Given the description of an element on the screen output the (x, y) to click on. 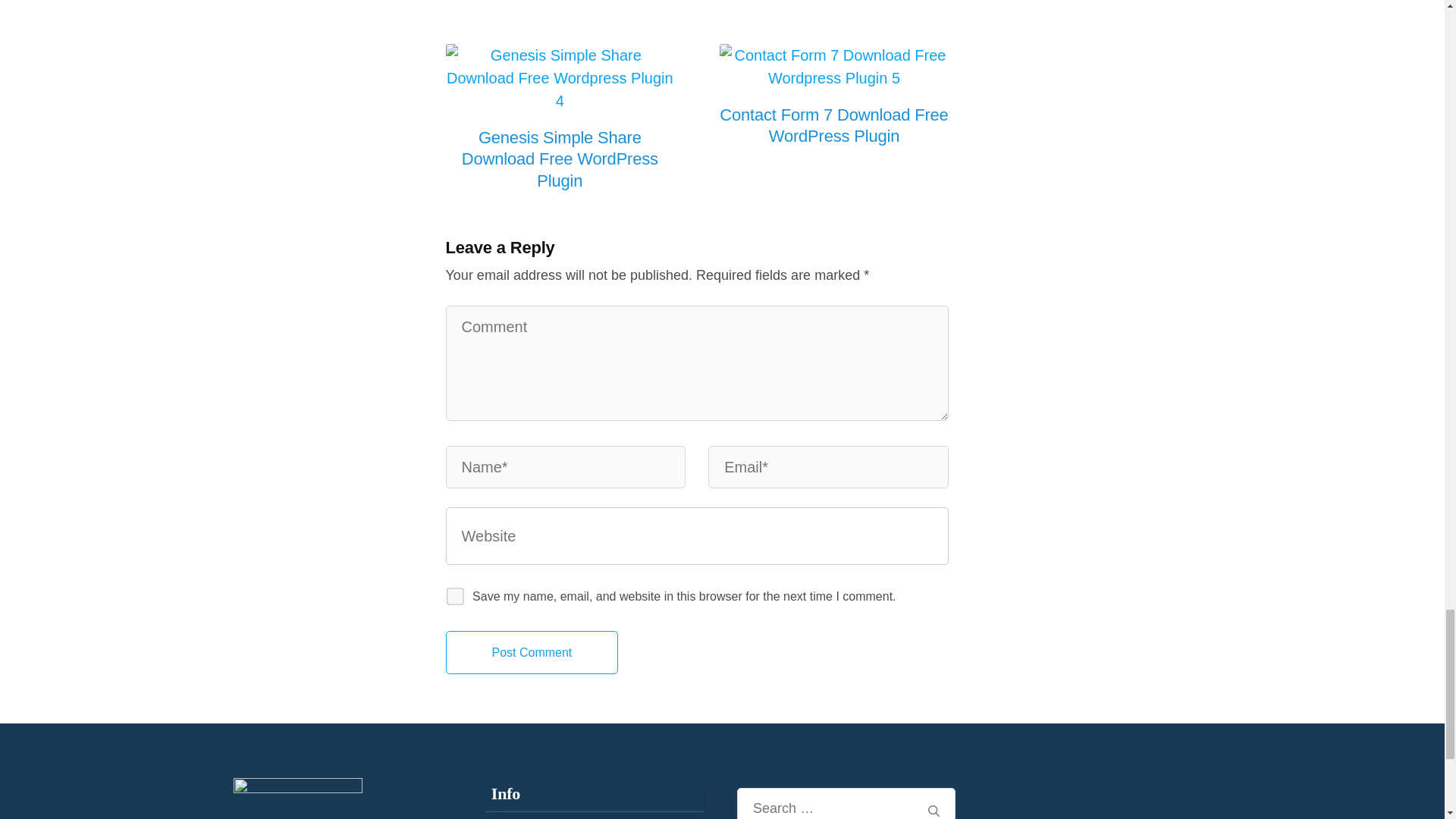
yes (450, 592)
Search (933, 810)
Contact Form 7 Download Free Wordpress Plugin 5 (834, 66)
Genesis Simple Share Download Free Wordpress Plugin 4 (560, 78)
Post Comment (531, 652)
Search (933, 810)
